Given the description of an element on the screen output the (x, y) to click on. 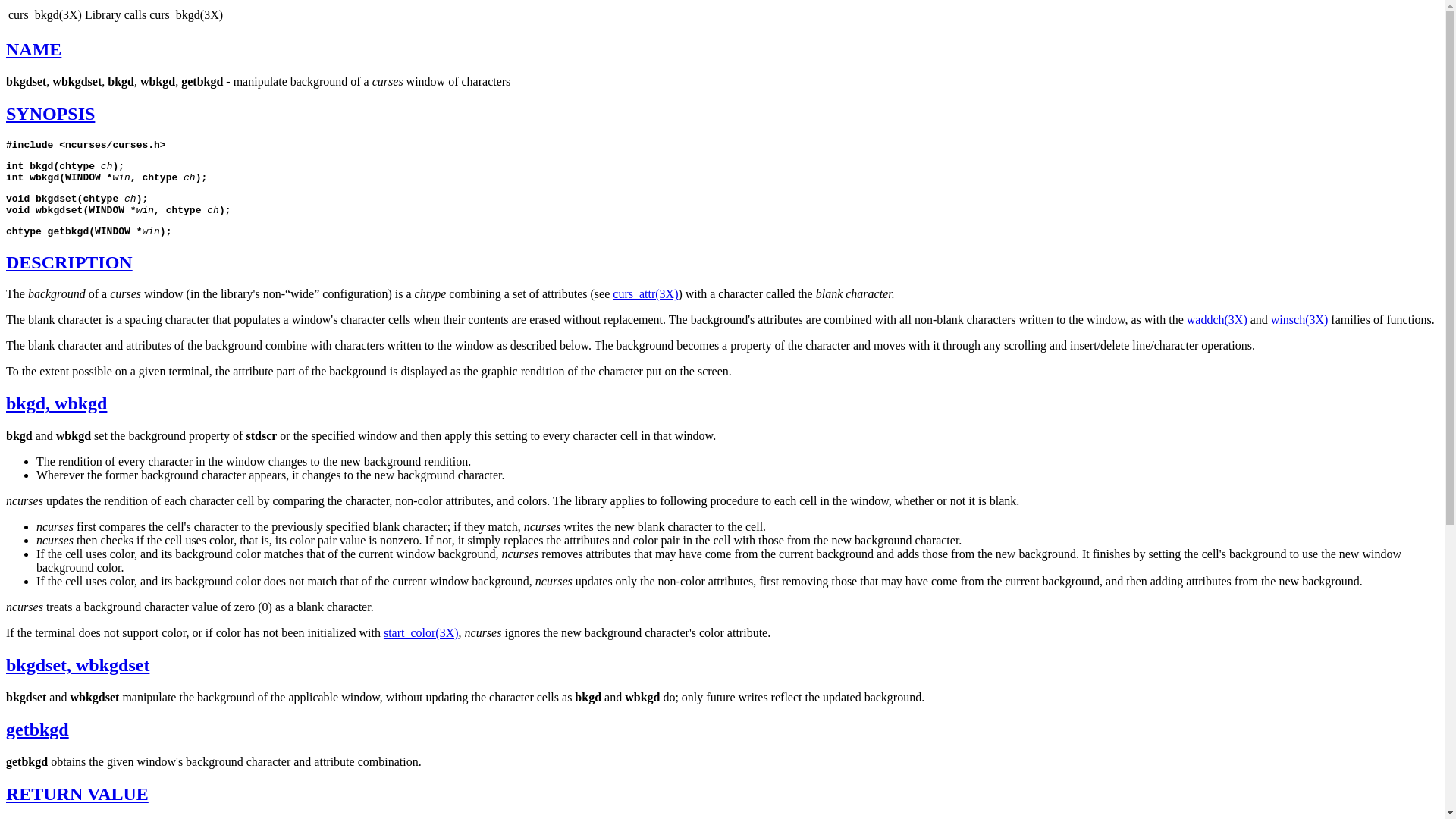
DESCRIPTION (68, 261)
SYNOPSIS (49, 113)
RETURN VALUE (76, 793)
getbkgd (36, 729)
bkgd, wbkgd (55, 403)
bkgdset, wbkgdset (77, 664)
NAME (33, 48)
